Given the description of an element on the screen output the (x, y) to click on. 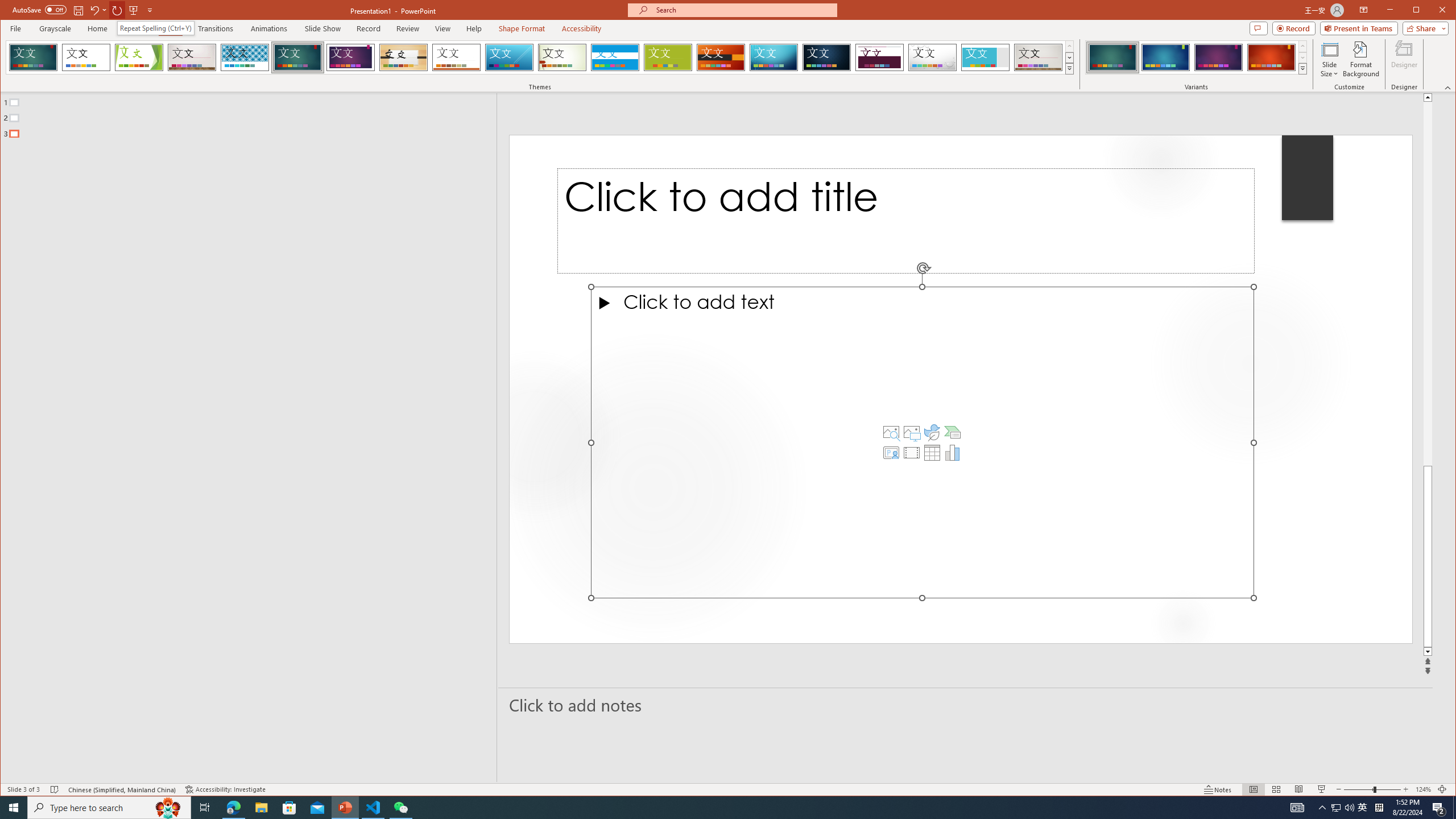
Berlin (720, 57)
